Given the description of an element on the screen output the (x, y) to click on. 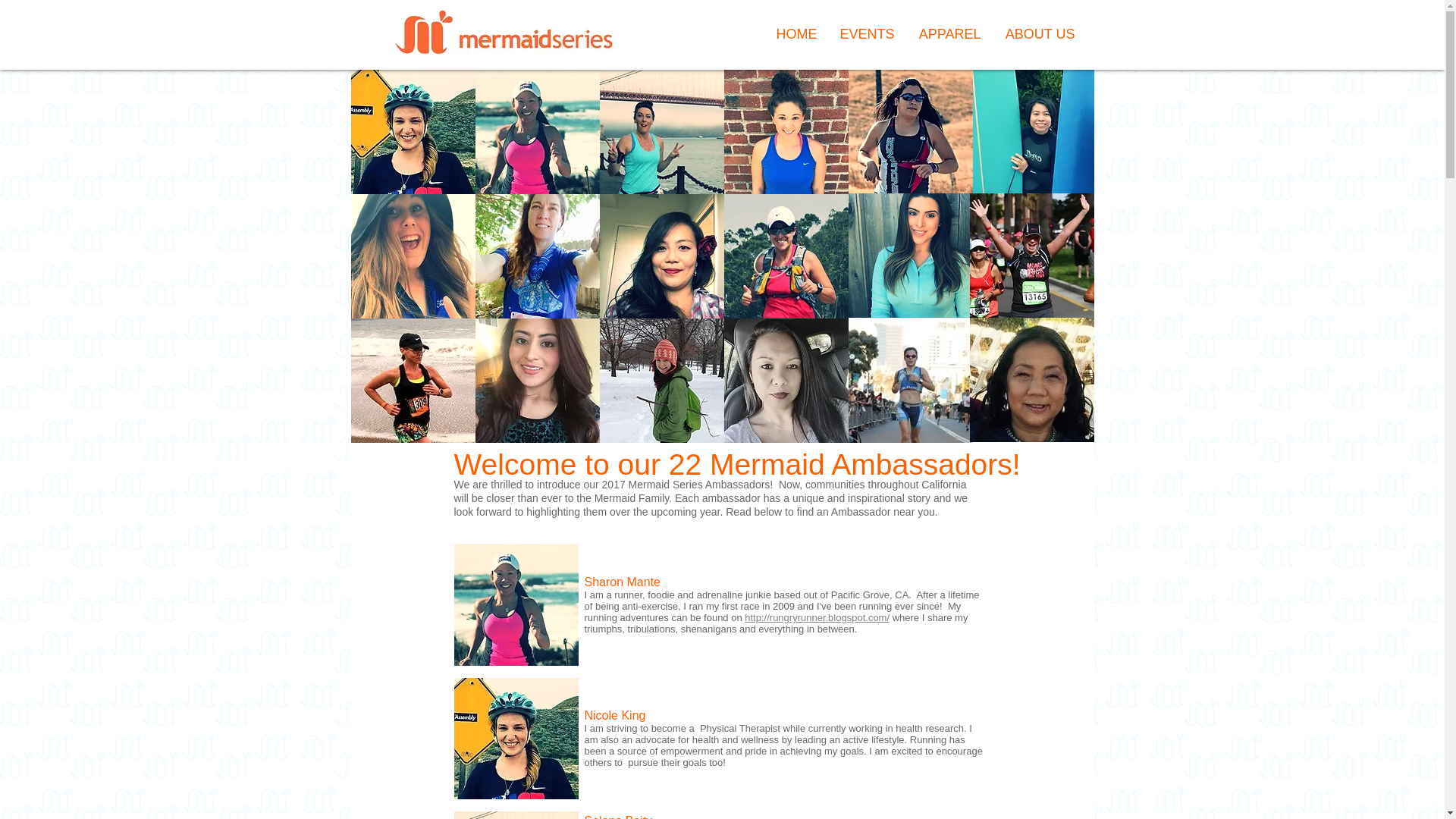
APPAREL (948, 34)
HOME (796, 34)
